Given the description of an element on the screen output the (x, y) to click on. 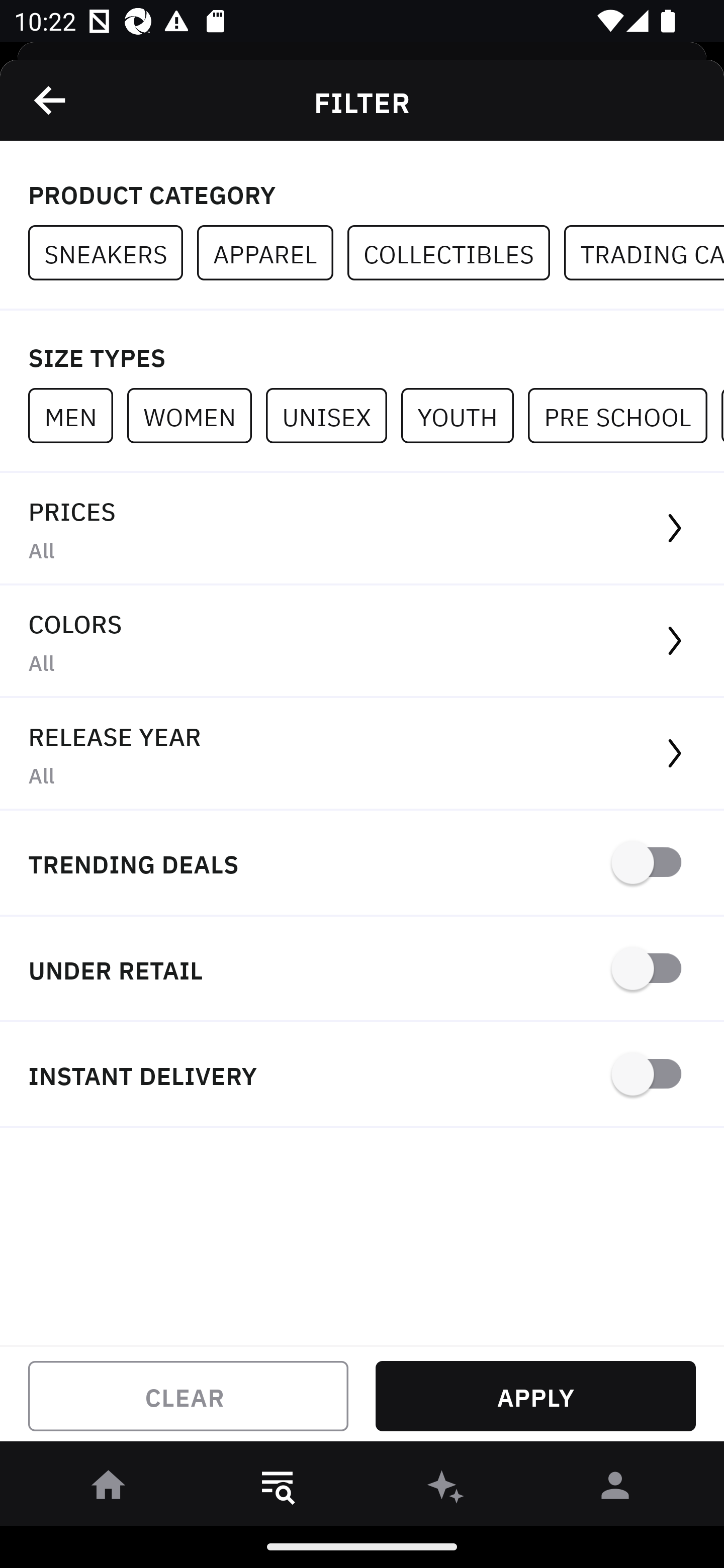
 (50, 100)
SNEAKERS (112, 252)
APPAREL (271, 252)
COLLECTIBLES (455, 252)
TRADING CARDS (643, 252)
MEN (77, 415)
WOMEN (196, 415)
UNISEX (333, 415)
YOUTH (464, 415)
PRE SCHOOL (624, 415)
PRICES All (362, 528)
COLORS All (362, 640)
RELEASE YEAR All (362, 753)
TRENDING DEALS (362, 863)
UNDER RETAIL (362, 969)
INSTANT DELIVERY (362, 1075)
CLEAR  (188, 1396)
APPLY (535, 1396)
󰋜 (108, 1488)
󱎸 (277, 1488)
󰫢 (446, 1488)
󰀄 (615, 1488)
